Given the description of an element on the screen output the (x, y) to click on. 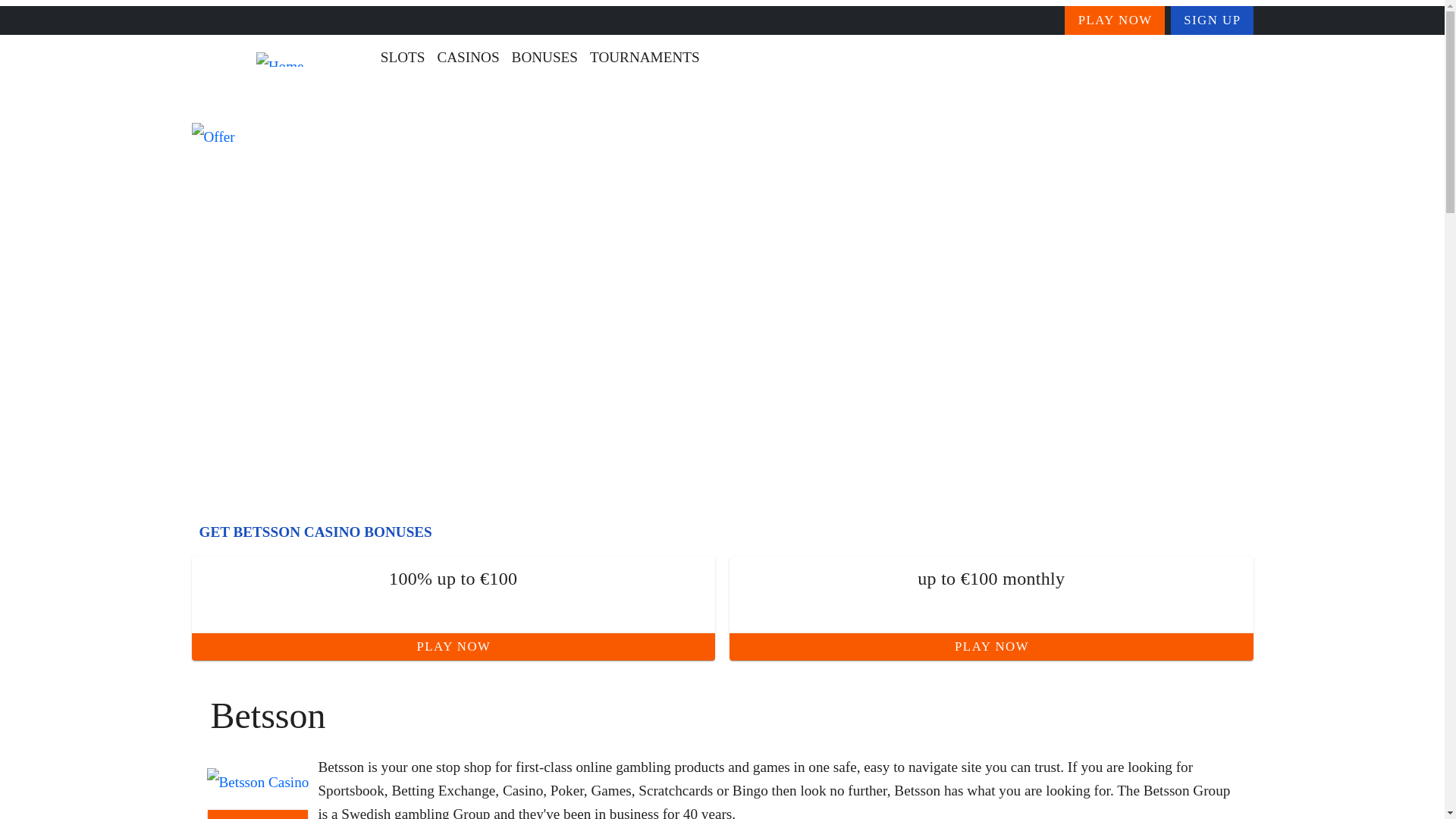
PLAY NOW (452, 646)
Assorted (438, 104)
SLOTS (402, 57)
PLAY NOW (1114, 20)
Casinos (295, 104)
USA (365, 104)
CASINOS (467, 57)
PLAY NOW (257, 814)
TOURNAMENTS (644, 57)
SIGN UP (1211, 20)
